Given the description of an element on the screen output the (x, y) to click on. 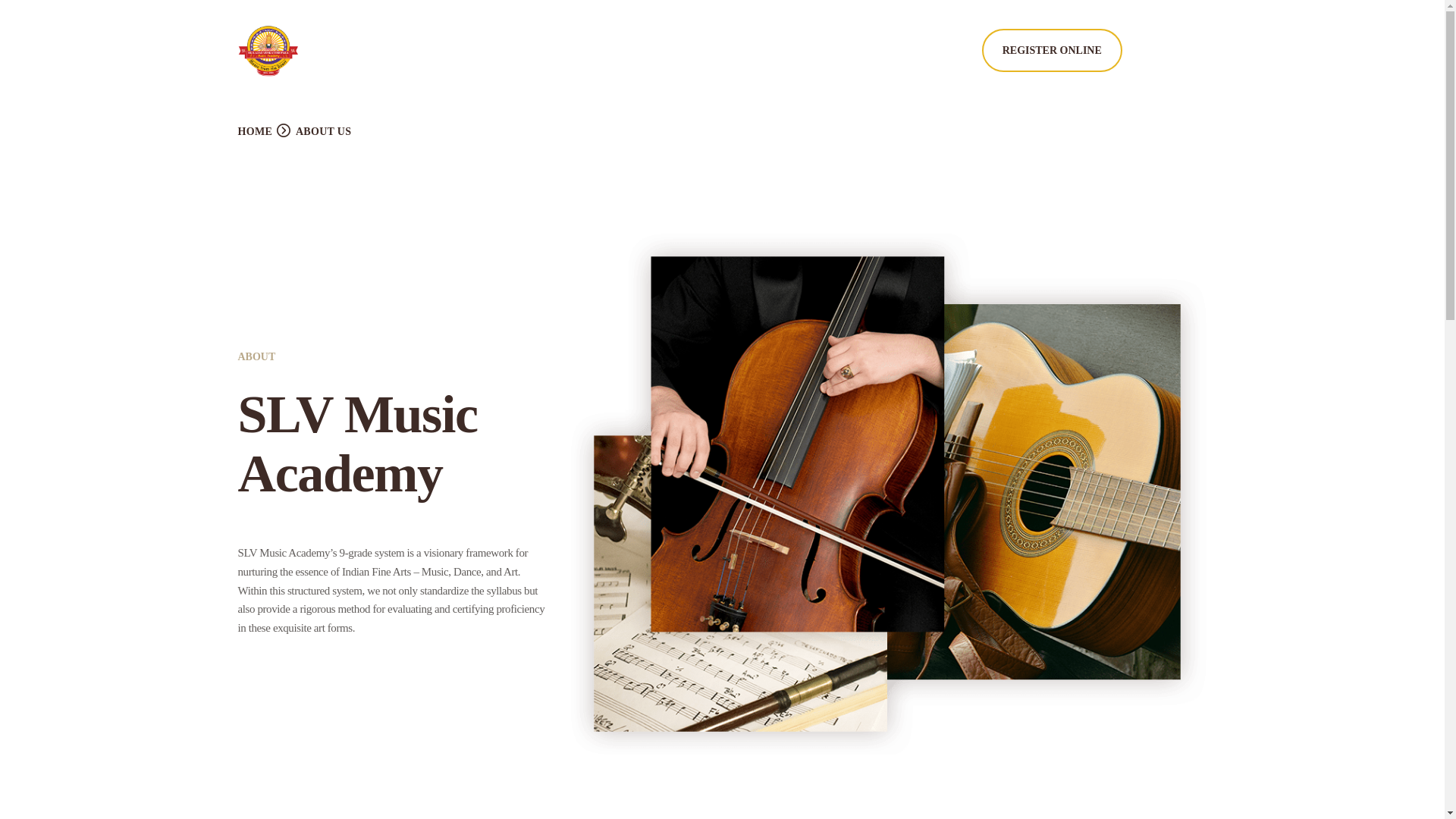
REGISTER ONLINE (1051, 50)
HOME (255, 131)
